Given the description of an element on the screen output the (x, y) to click on. 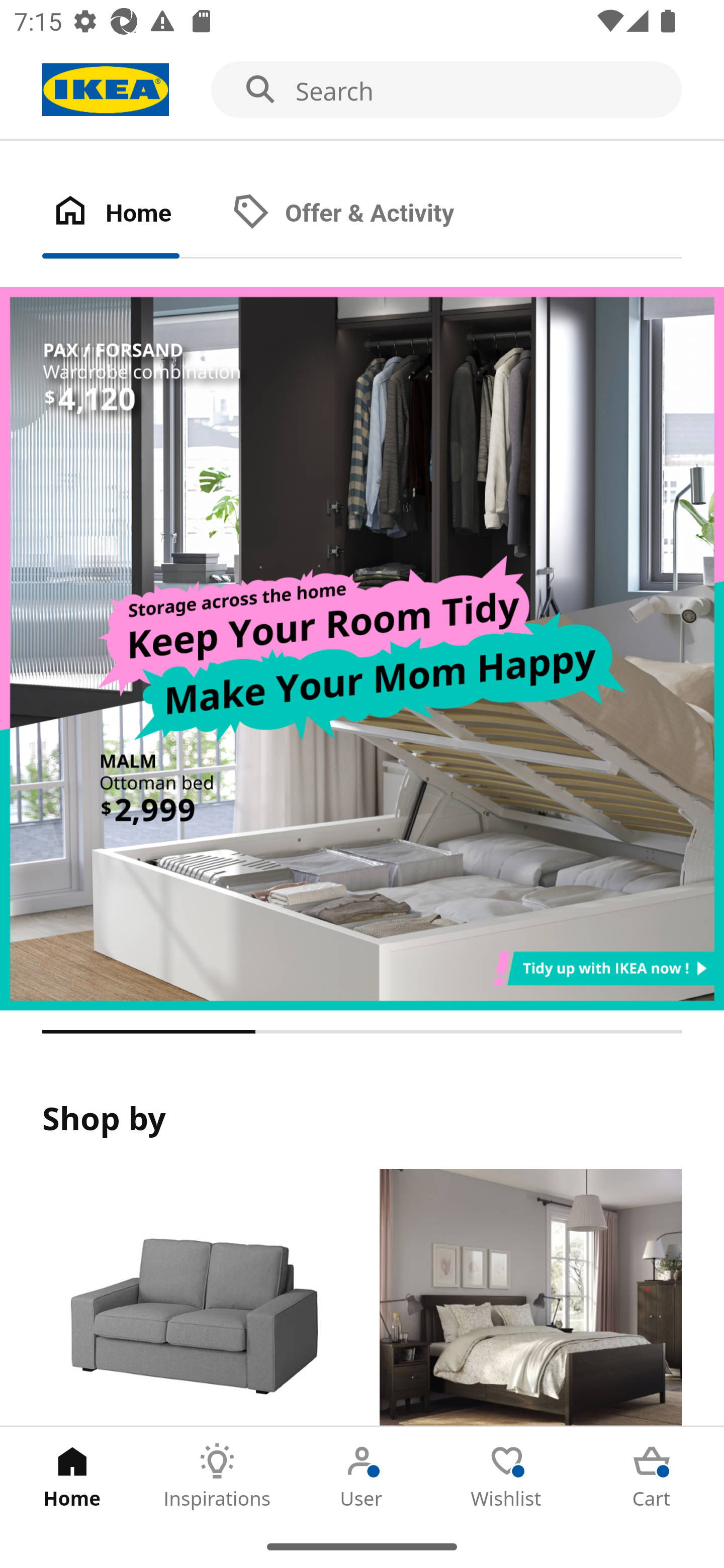
Search (361, 90)
Home
Tab 1 of 2 (131, 213)
Offer & Activity
Tab 2 of 2 (363, 213)
Products (192, 1297)
Rooms (530, 1297)
Home
Tab 1 of 5 (72, 1476)
Inspirations
Tab 2 of 5 (216, 1476)
User
Tab 3 of 5 (361, 1476)
Wishlist
Tab 4 of 5 (506, 1476)
Cart
Tab 5 of 5 (651, 1476)
